Given the description of an element on the screen output the (x, y) to click on. 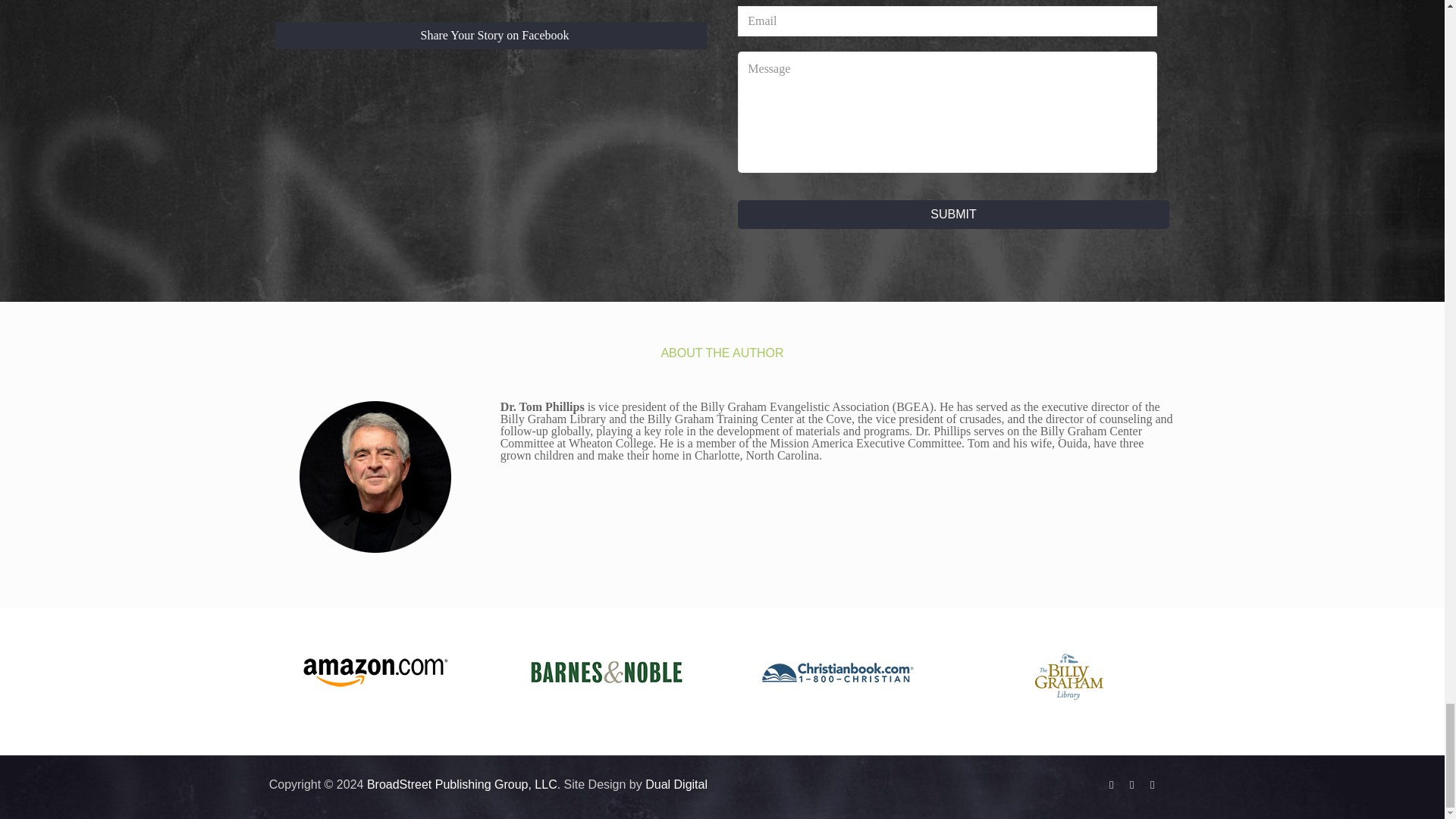
Facebook (1111, 784)
Submit (953, 214)
BroadStreet Publishing Group, LLC (461, 784)
Dual Digital (676, 784)
Submit (953, 214)
Instagram (1152, 784)
Share Your Story on Facebook (490, 35)
YouTube (1132, 784)
